Given the description of an element on the screen output the (x, y) to click on. 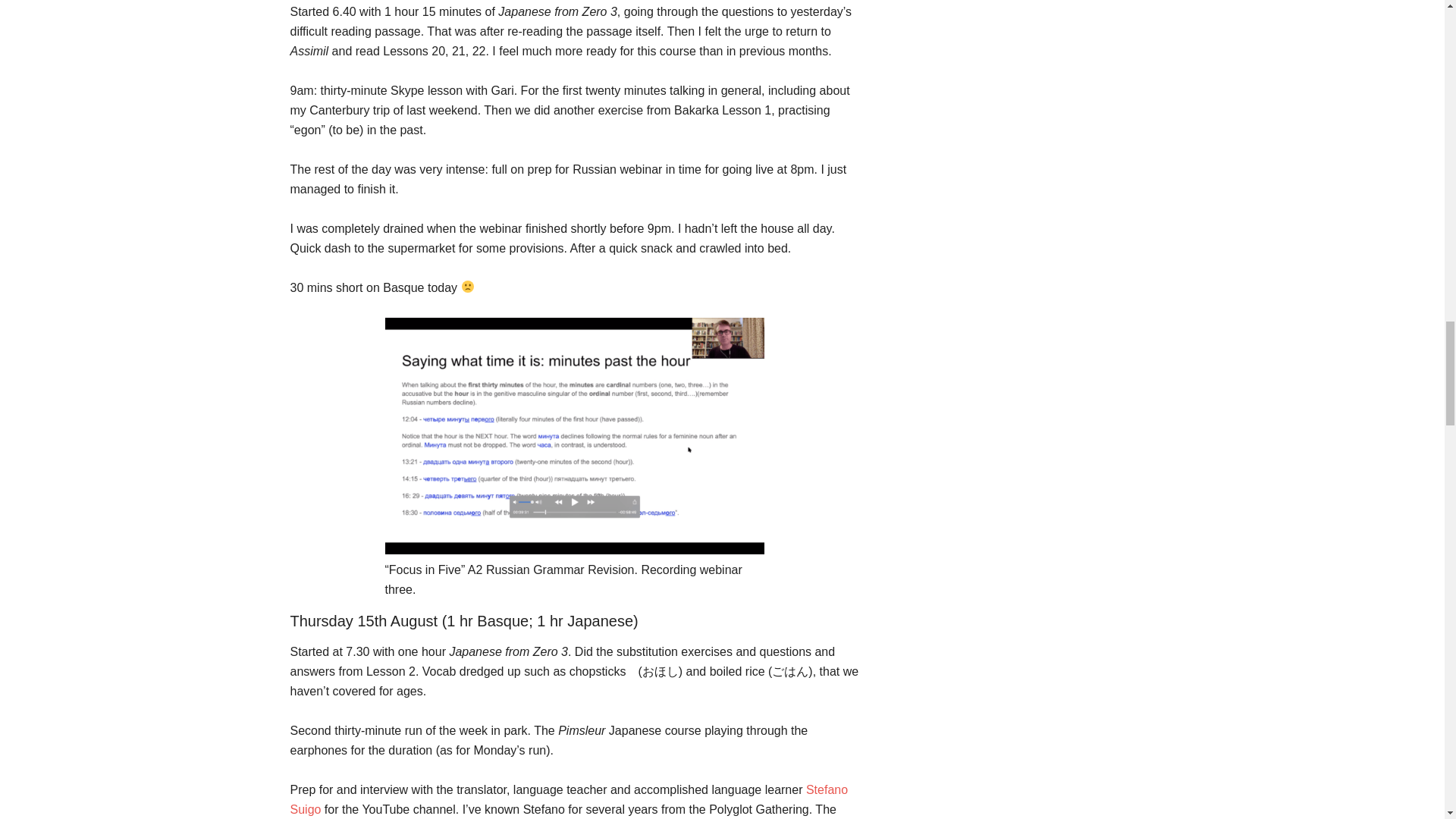
Stefano Suigo (568, 798)
